Given the description of an element on the screen output the (x, y) to click on. 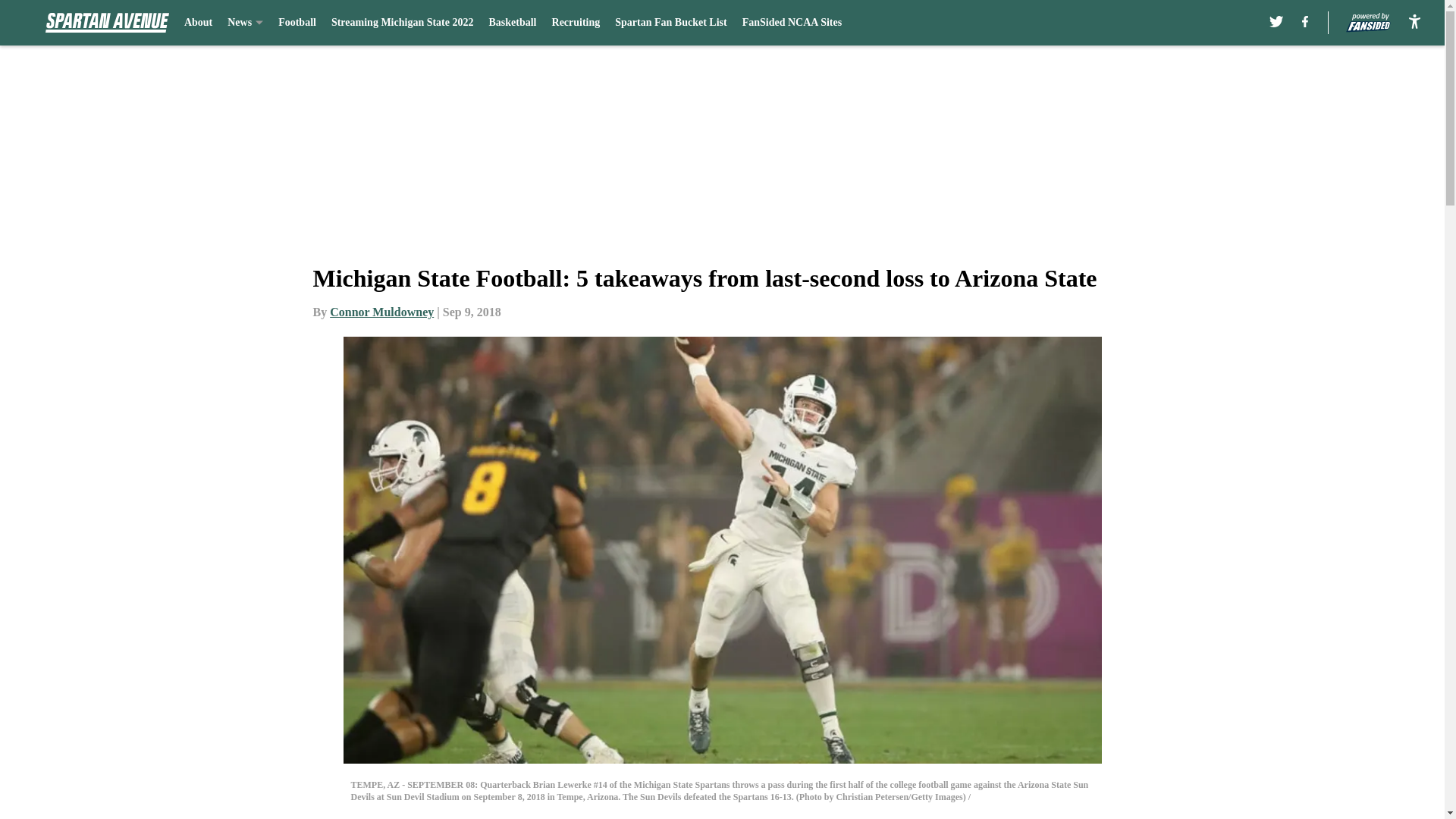
Football (296, 22)
FanSided NCAA Sites (791, 22)
Spartan Fan Bucket List (670, 22)
Streaming Michigan State 2022 (402, 22)
Recruiting (575, 22)
Connor Muldowney (381, 311)
Basketball (511, 22)
About (198, 22)
